Given the description of an element on the screen output the (x, y) to click on. 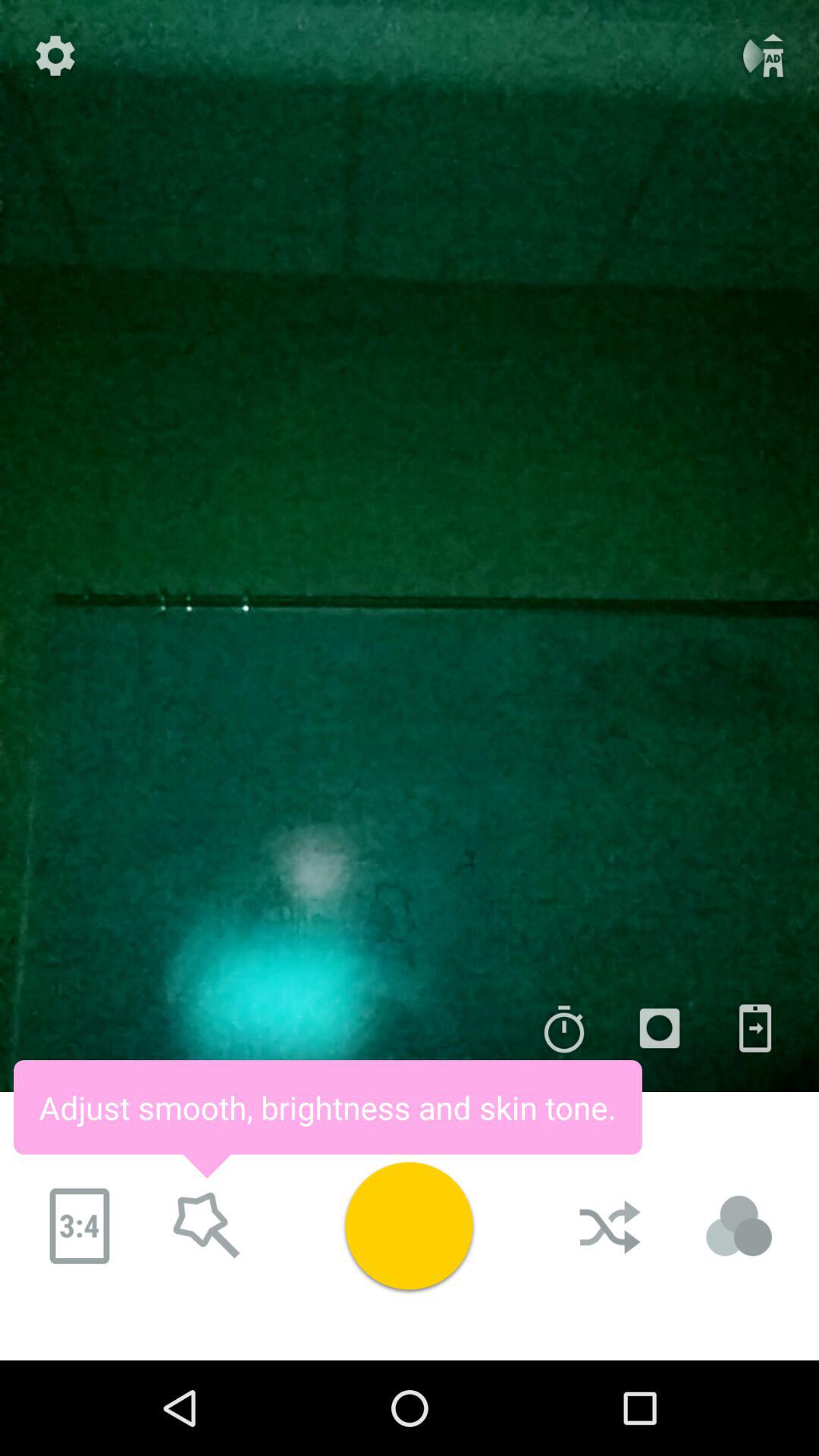
go to icon (659, 1028)
